Given the description of an element on the screen output the (x, y) to click on. 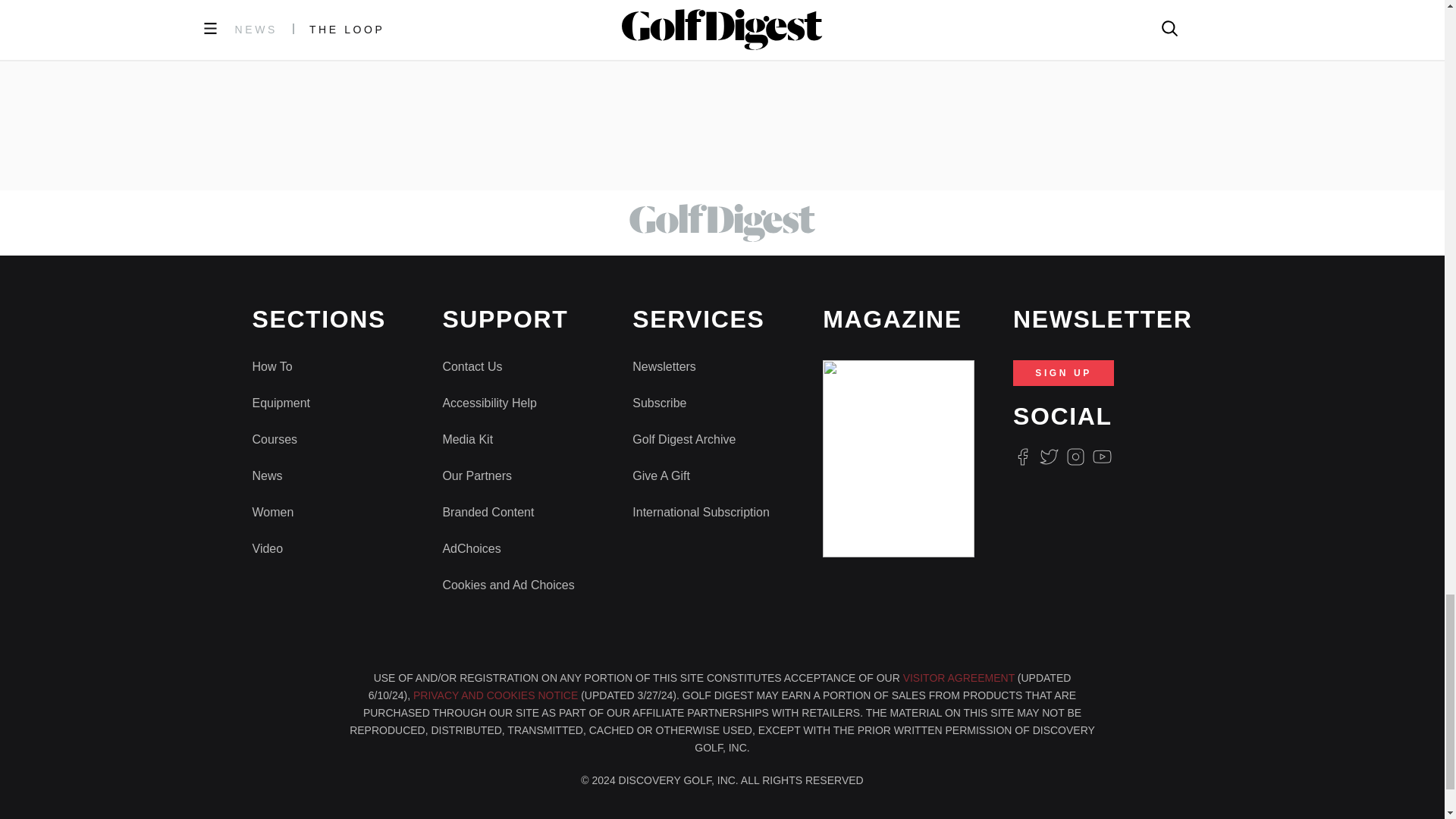
Twitter Logo (1048, 456)
Facebook Logo (1022, 456)
Youtube Icon (1102, 456)
Instagram Logo (1074, 456)
